Given the description of an element on the screen output the (x, y) to click on. 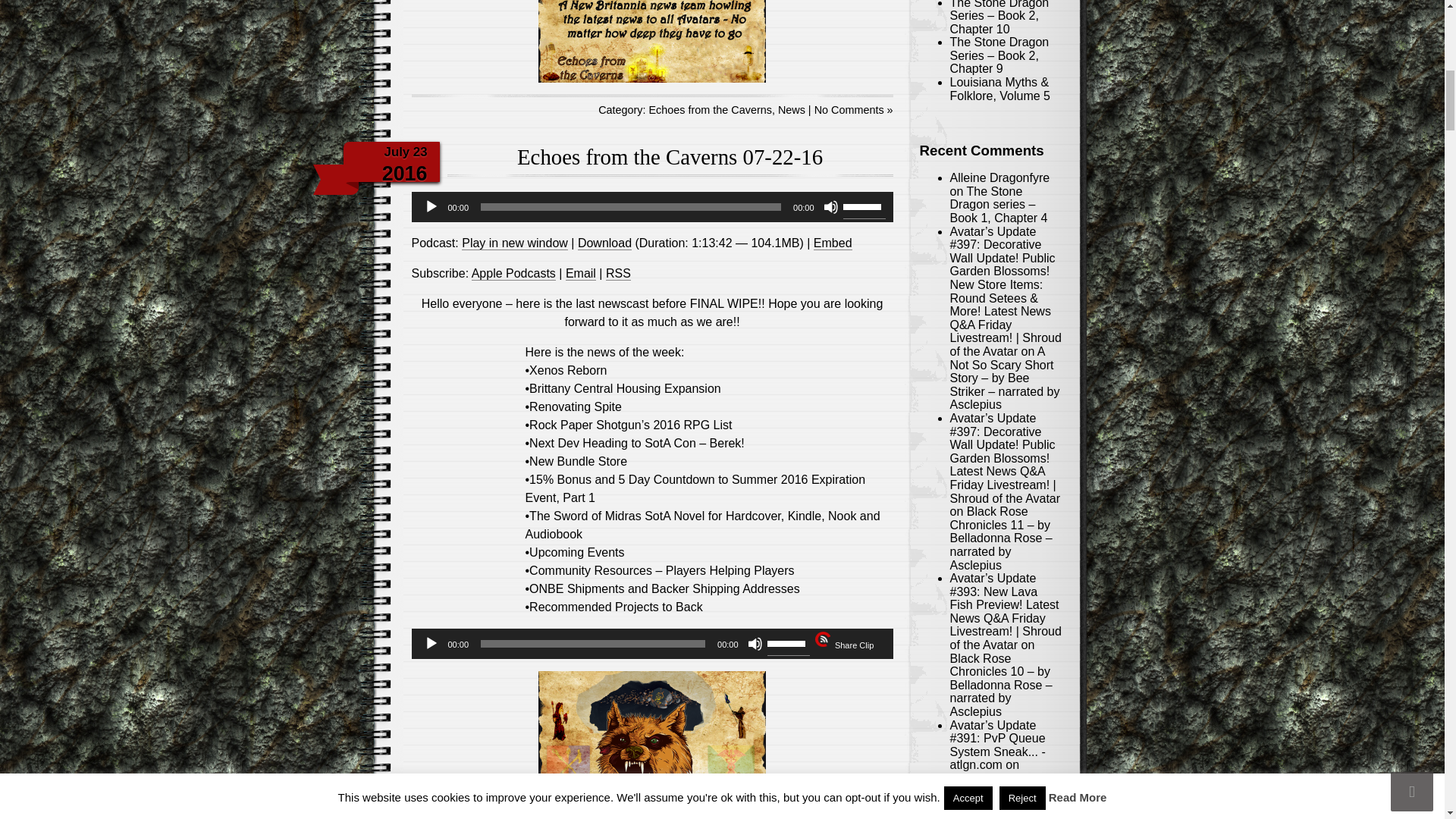
Email (580, 273)
Embed (832, 243)
Mute (831, 206)
Download (604, 243)
Apple Podcasts (513, 273)
Echoes from the Caverns 07-22-16 (669, 156)
Permanent Link to Echoes from the Caverns 07-22-16 (669, 156)
News (791, 110)
Play in new window (514, 243)
Echoes from the Caverns (710, 110)
